Given the description of an element on the screen output the (x, y) to click on. 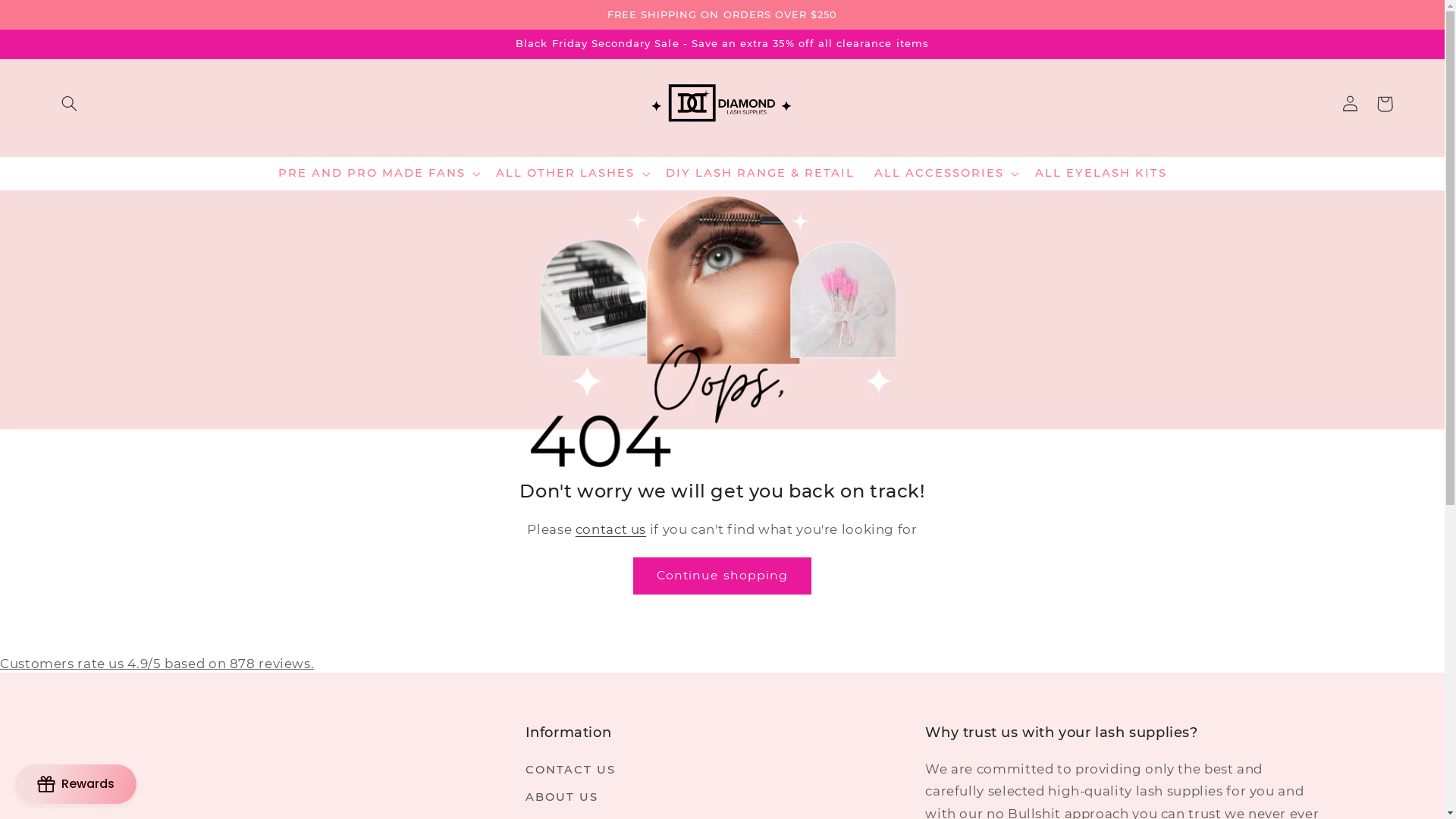
Customers rate us 4.9/5 based on 878 reviews. Element type: text (156, 663)
DIY LASH RANGE & RETAIL Element type: text (760, 173)
Log in Element type: text (1349, 103)
Rewards Element type: text (75, 783)
Continue shopping Element type: text (722, 575)
Customers rate us 4.9/5 based on 878 reviews. Element type: text (722, 664)
ABOUT US Element type: text (561, 797)
ALL EYELASH KITS Element type: text (1100, 173)
contact us Element type: text (610, 528)
Cart Element type: text (1384, 103)
CONTACT US Element type: text (570, 772)
